Given the description of an element on the screen output the (x, y) to click on. 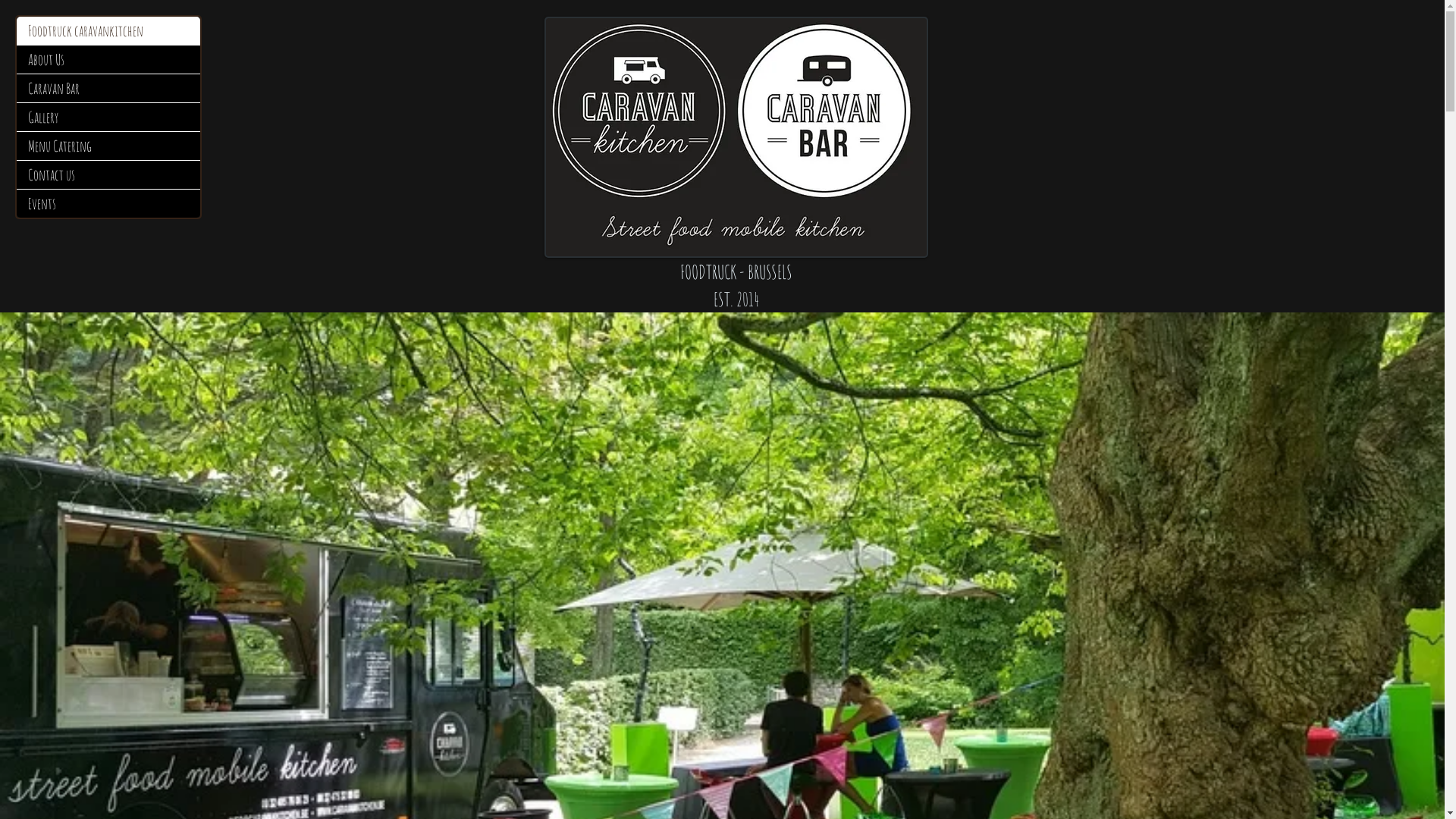
Caravan Bar Element type: text (108, 88)
Events Element type: text (108, 203)
Gallery Element type: text (108, 117)
About Us Element type: text (108, 59)
Contact us Element type: text (108, 174)
Menu Catering Element type: text (108, 145)
FOODTRUCK - BRUSSELS Element type: text (735, 271)
Foodtruck caravankitchen Element type: text (108, 30)
